Given the description of an element on the screen output the (x, y) to click on. 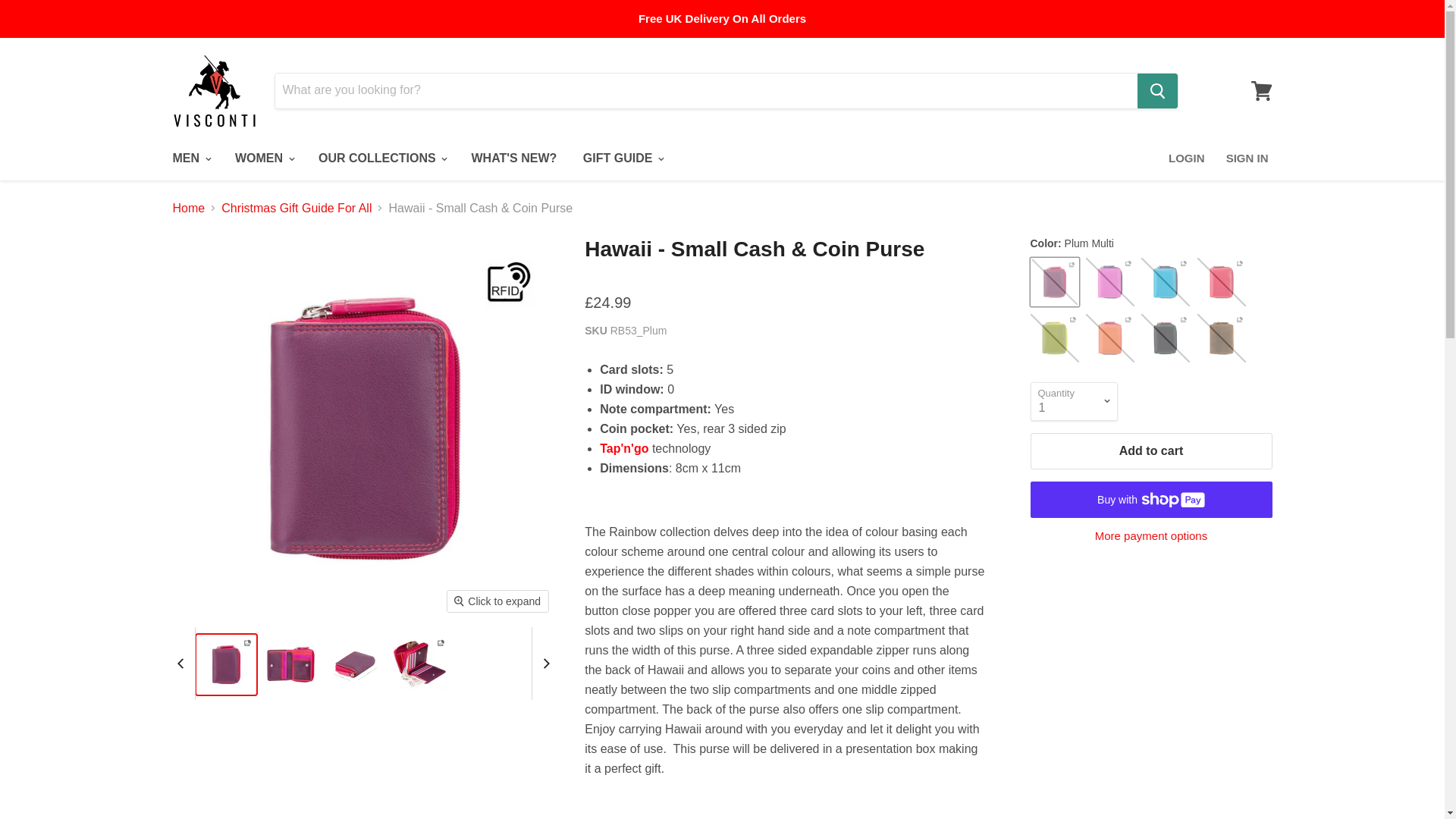
View cart (1261, 89)
MEN (189, 158)
